Given the description of an element on the screen output the (x, y) to click on. 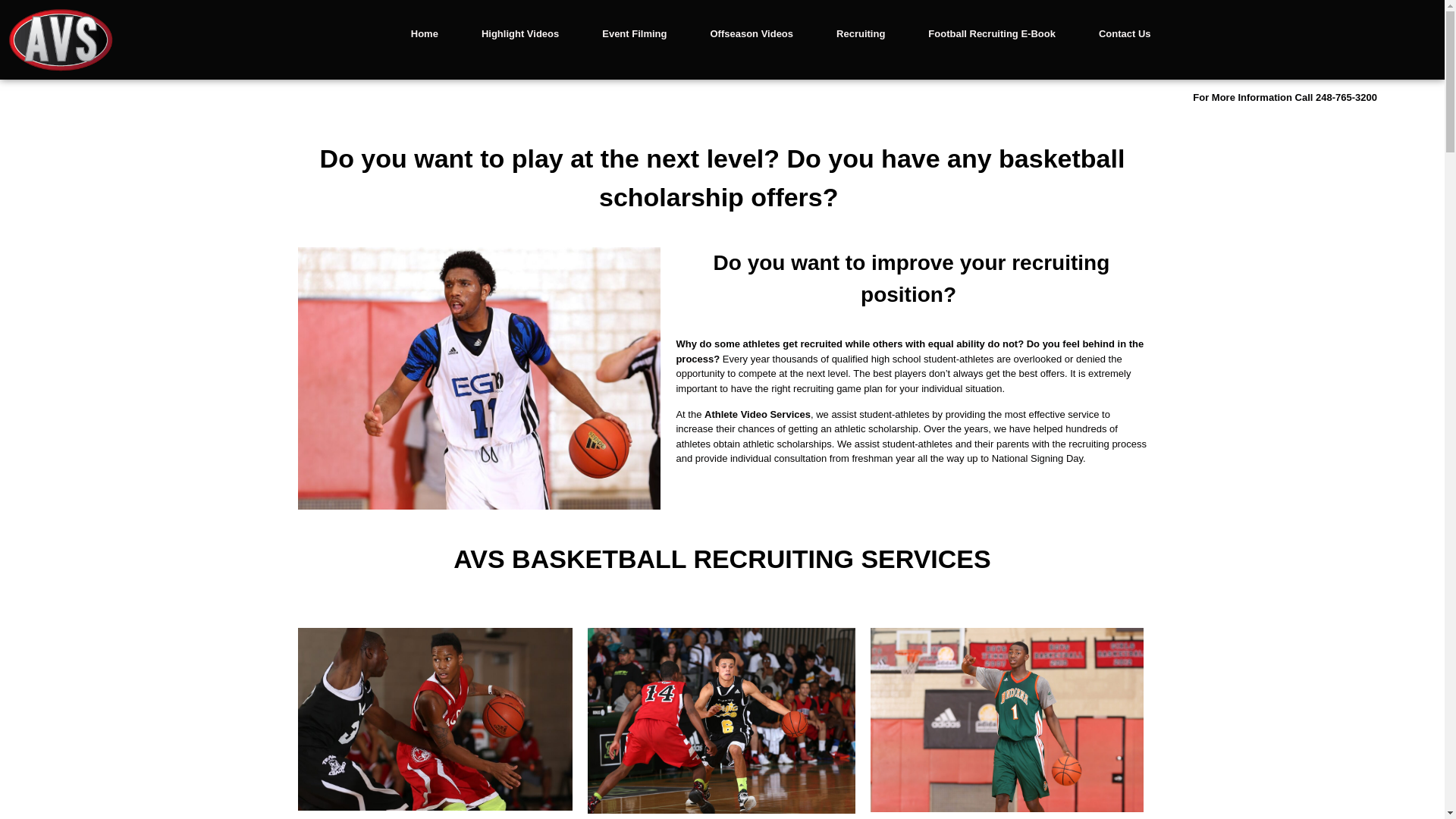
Football Recruiting E-Book (991, 33)
Highlight Videos (519, 33)
Contact Us (1124, 33)
Offseason Videos (751, 33)
Recruiting (860, 33)
Event Filming (633, 33)
Home (424, 33)
